Given the description of an element on the screen output the (x, y) to click on. 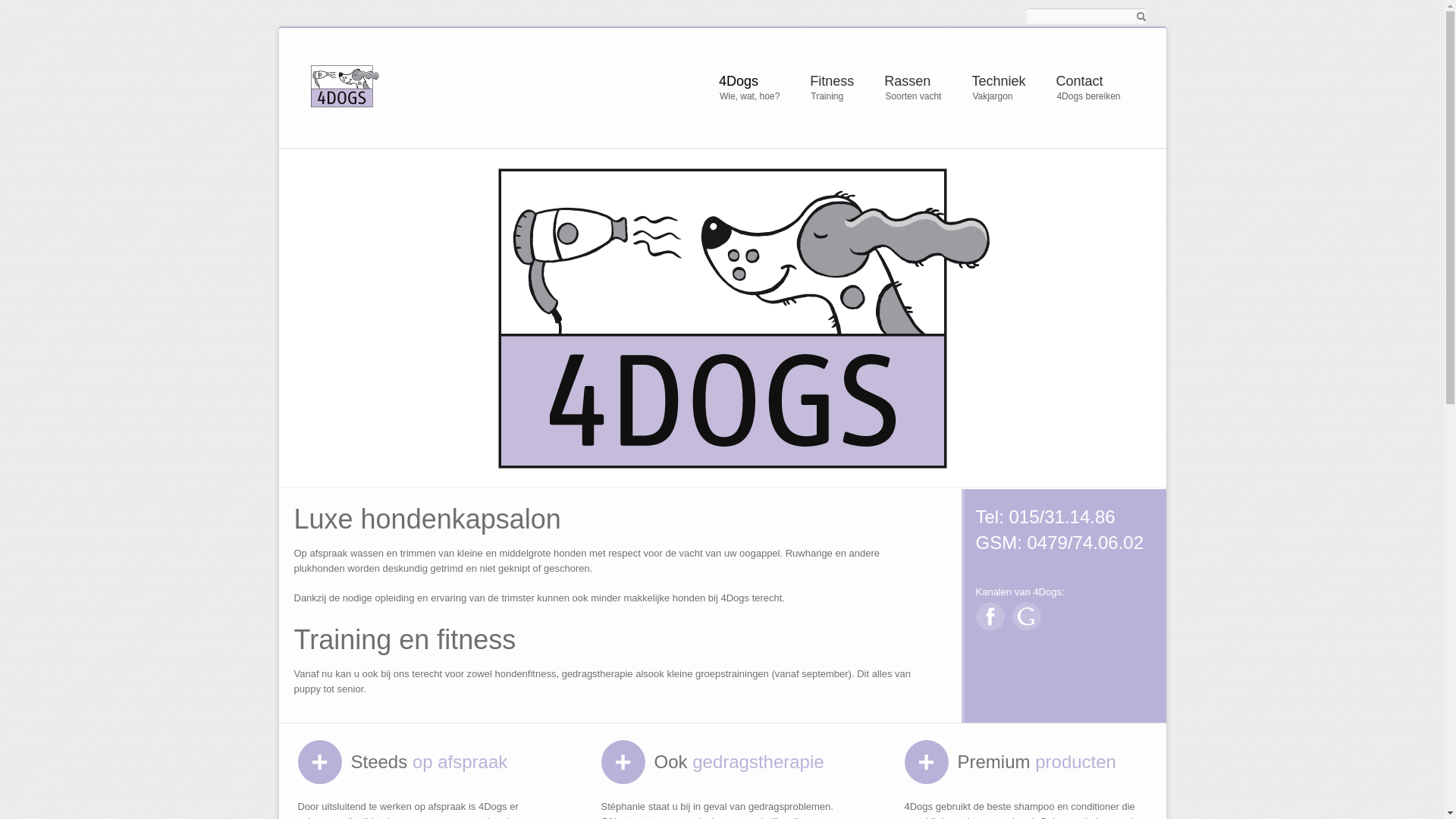
Contact Element type: text (1087, 80)
Enter the terms you wish to search for. Element type: hover (1085, 15)
Fitness Element type: text (831, 80)
Home Element type: hover (453, 85)
